Given the description of an element on the screen output the (x, y) to click on. 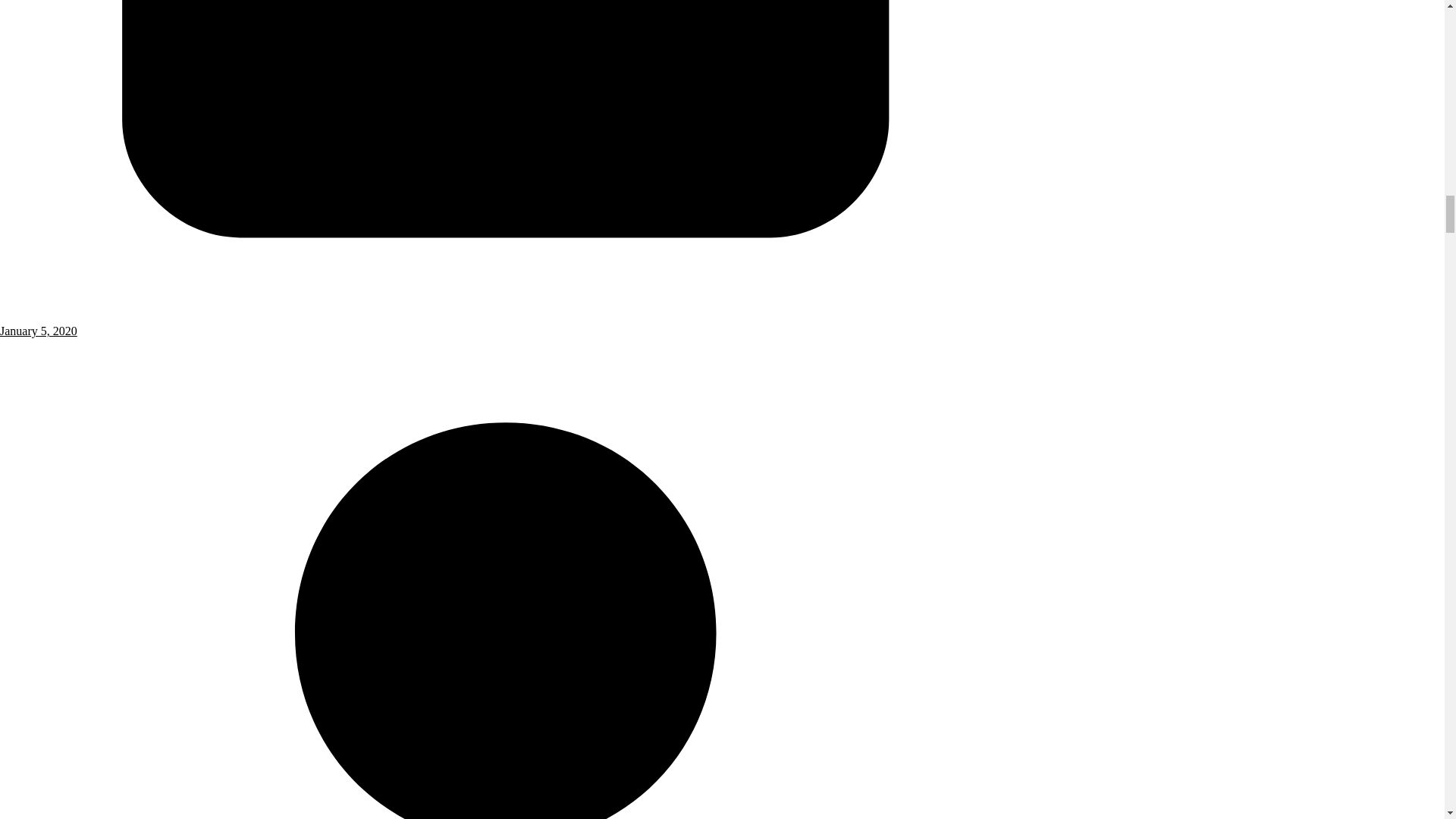
8:24 am (505, 324)
